Given the description of an element on the screen output the (x, y) to click on. 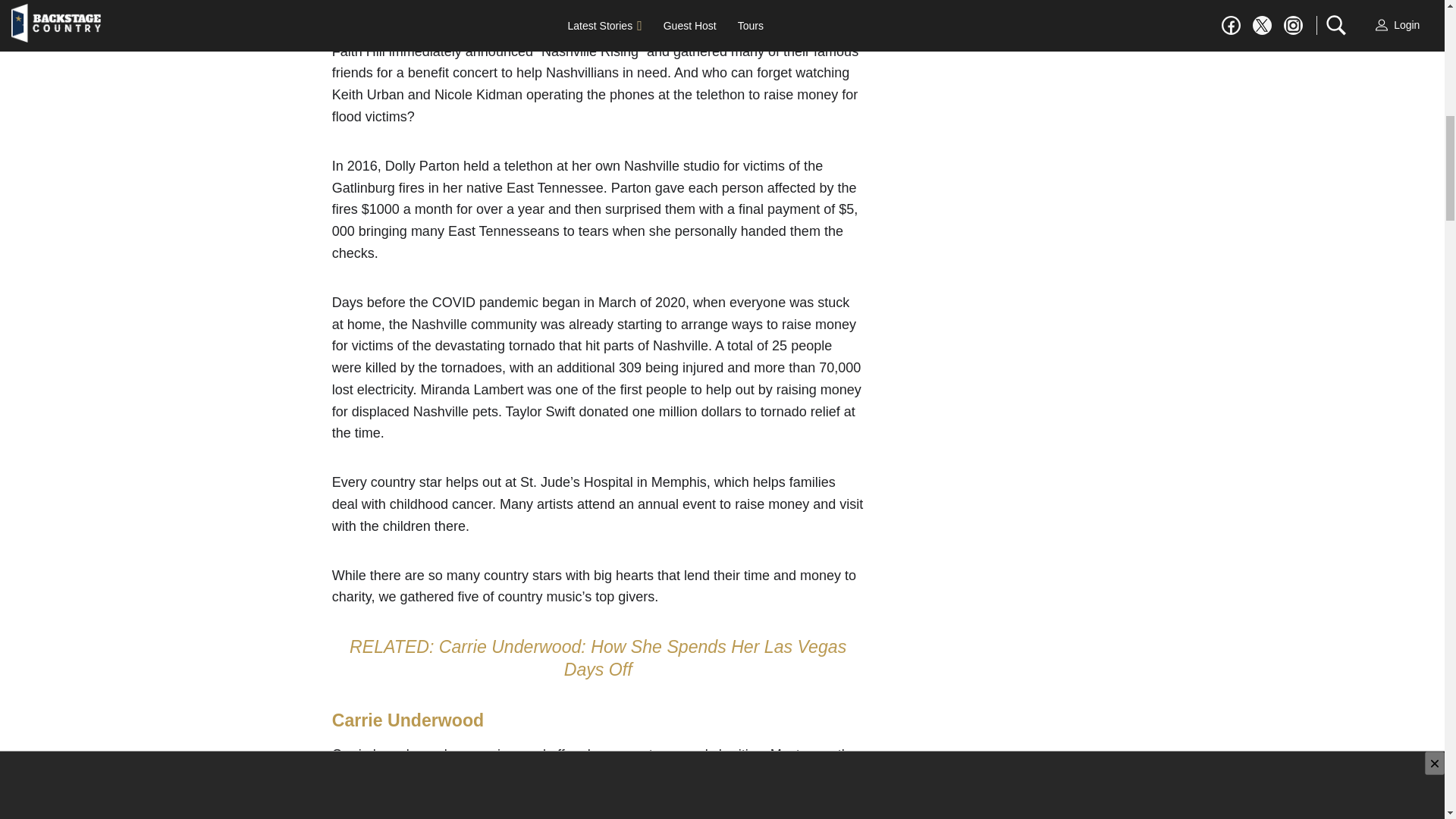
Tunnel to Towers Foundation (653, 776)
